Given the description of an element on the screen output the (x, y) to click on. 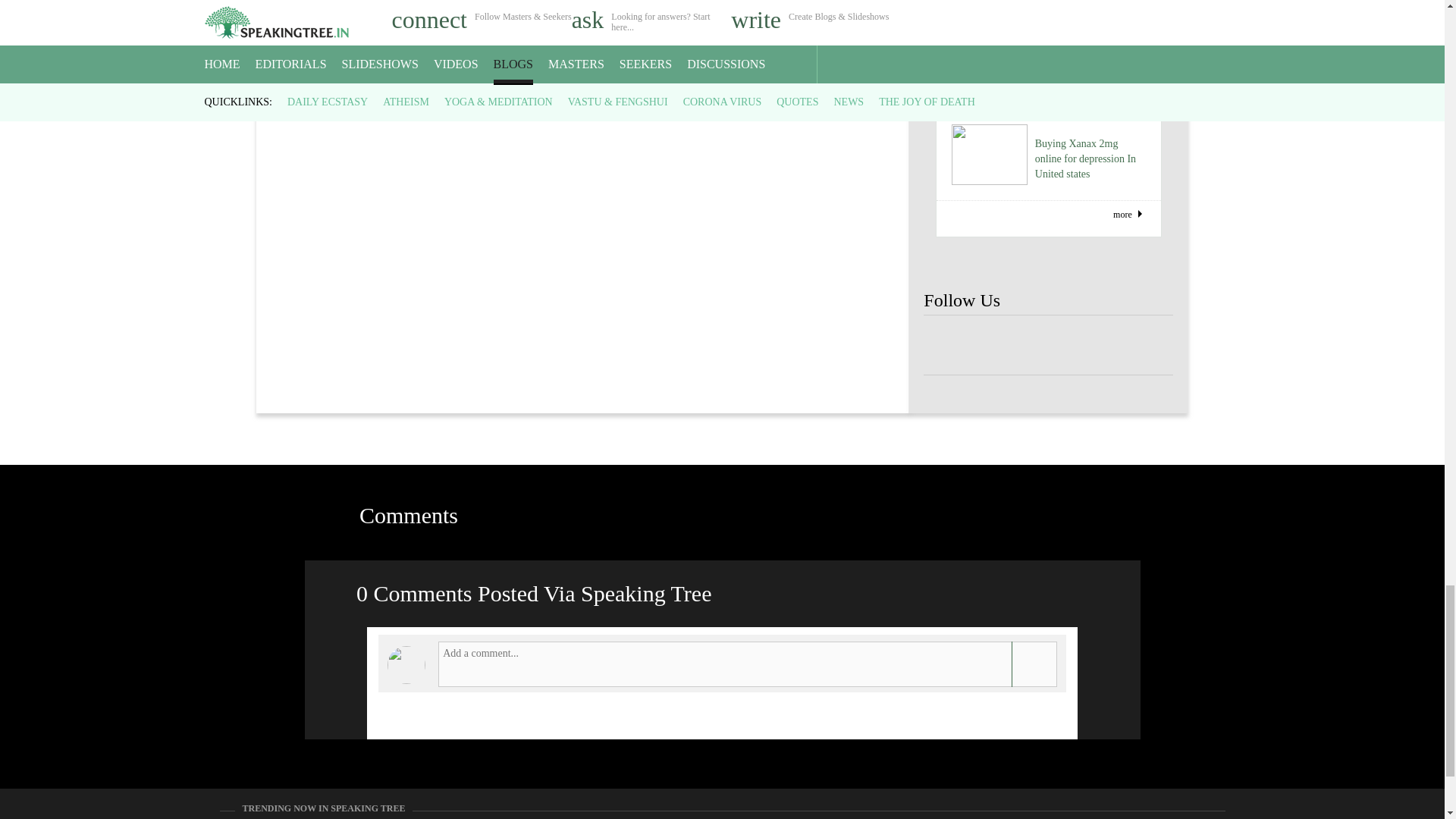
Speaking Tree FaceBook (1099, 345)
Speaking Tree FaceBook (1048, 345)
Speaking Tree FaceBook (948, 345)
Speaking Tree FaceBook (1147, 345)
Speaking Tree FaceBook (998, 345)
